Given the description of an element on the screen output the (x, y) to click on. 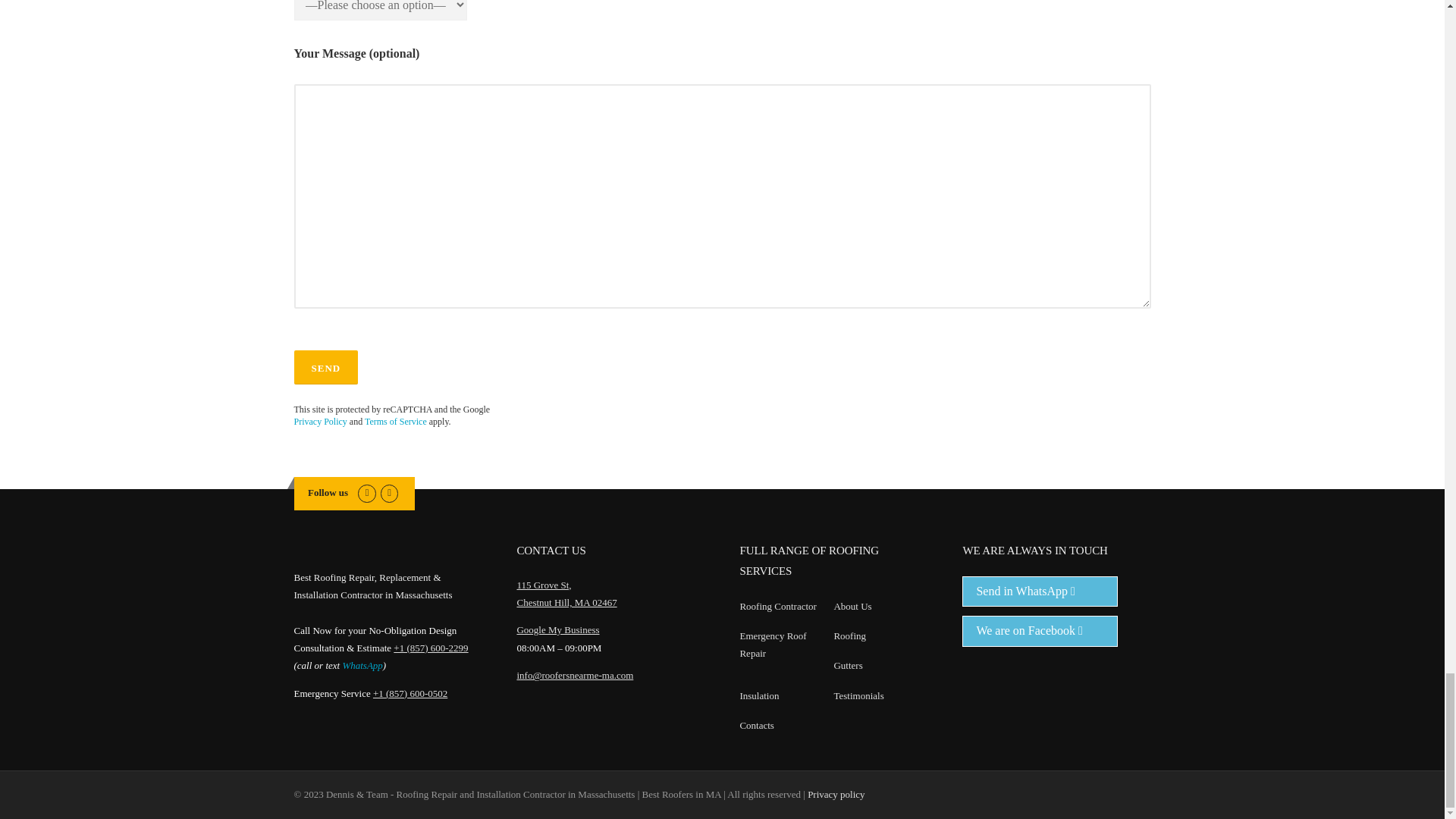
Email (388, 491)
Send (326, 367)
Facebook (366, 491)
